Given the description of an element on the screen output the (x, y) to click on. 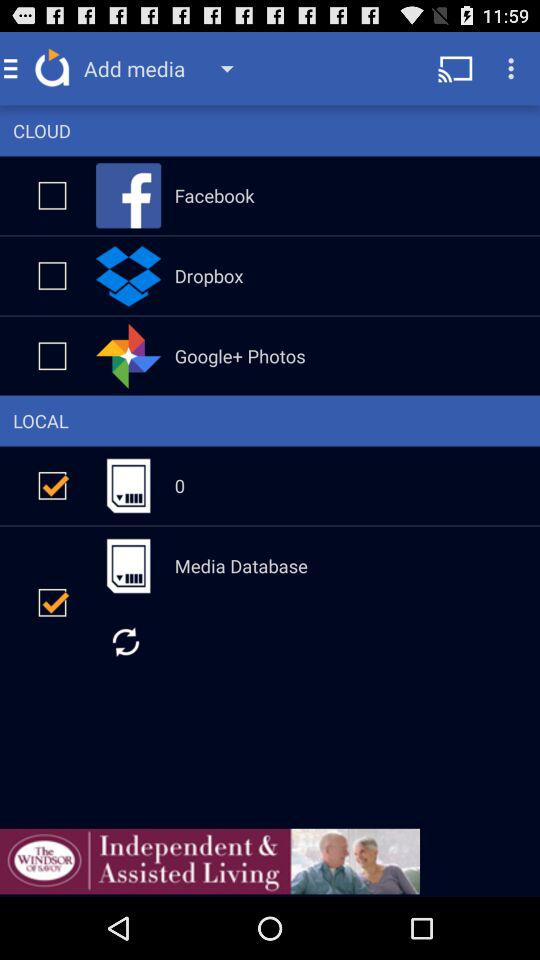
uncheck the checked box (52, 485)
